Given the description of an element on the screen output the (x, y) to click on. 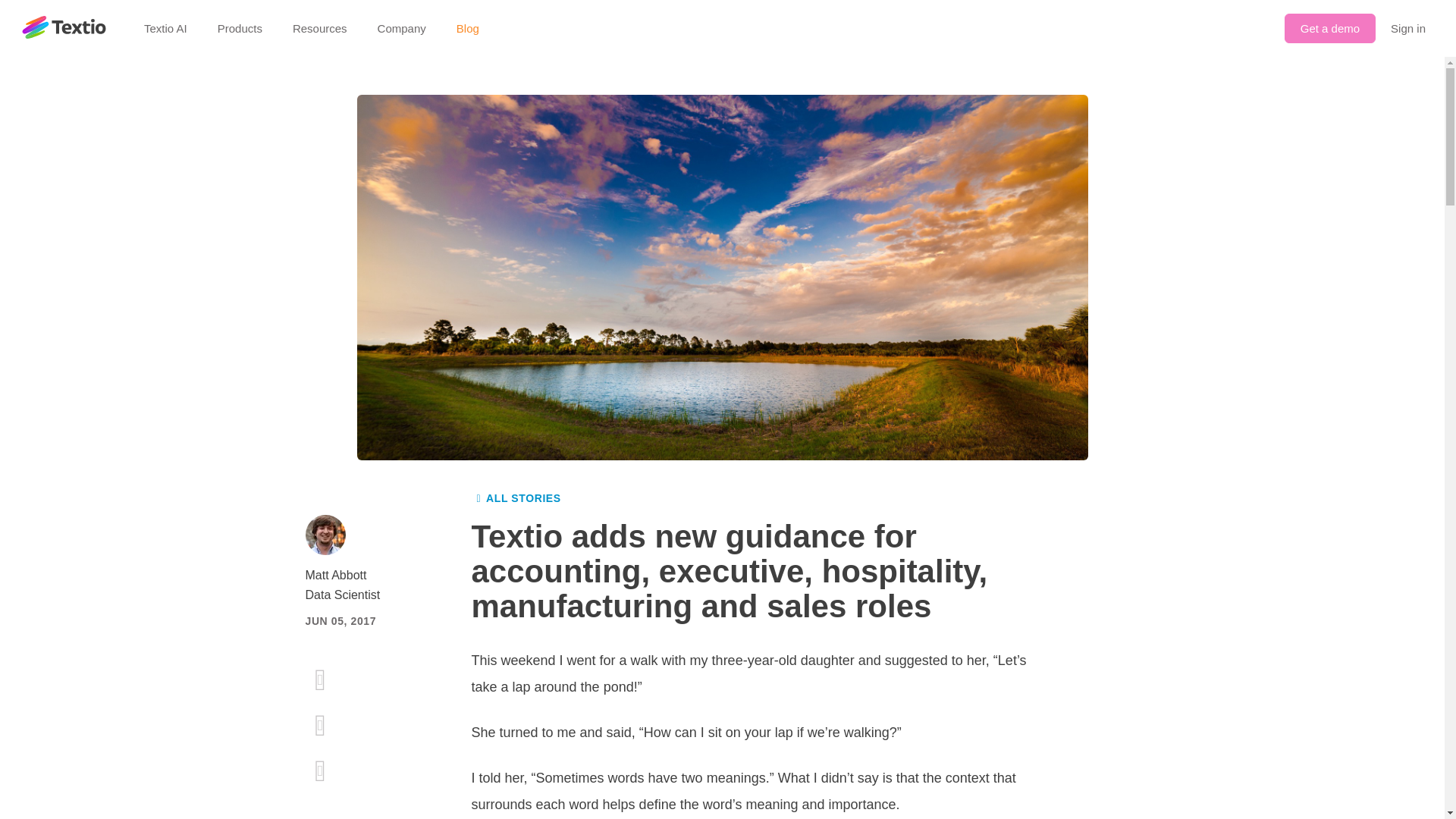
Get a demo (1329, 28)
Matt Abbott (369, 575)
Resources (319, 28)
Products (239, 28)
Sign in (1407, 28)
Blog (468, 28)
ALL STORIES (515, 498)
Company (401, 28)
Textio AI (165, 28)
